Given the description of an element on the screen output the (x, y) to click on. 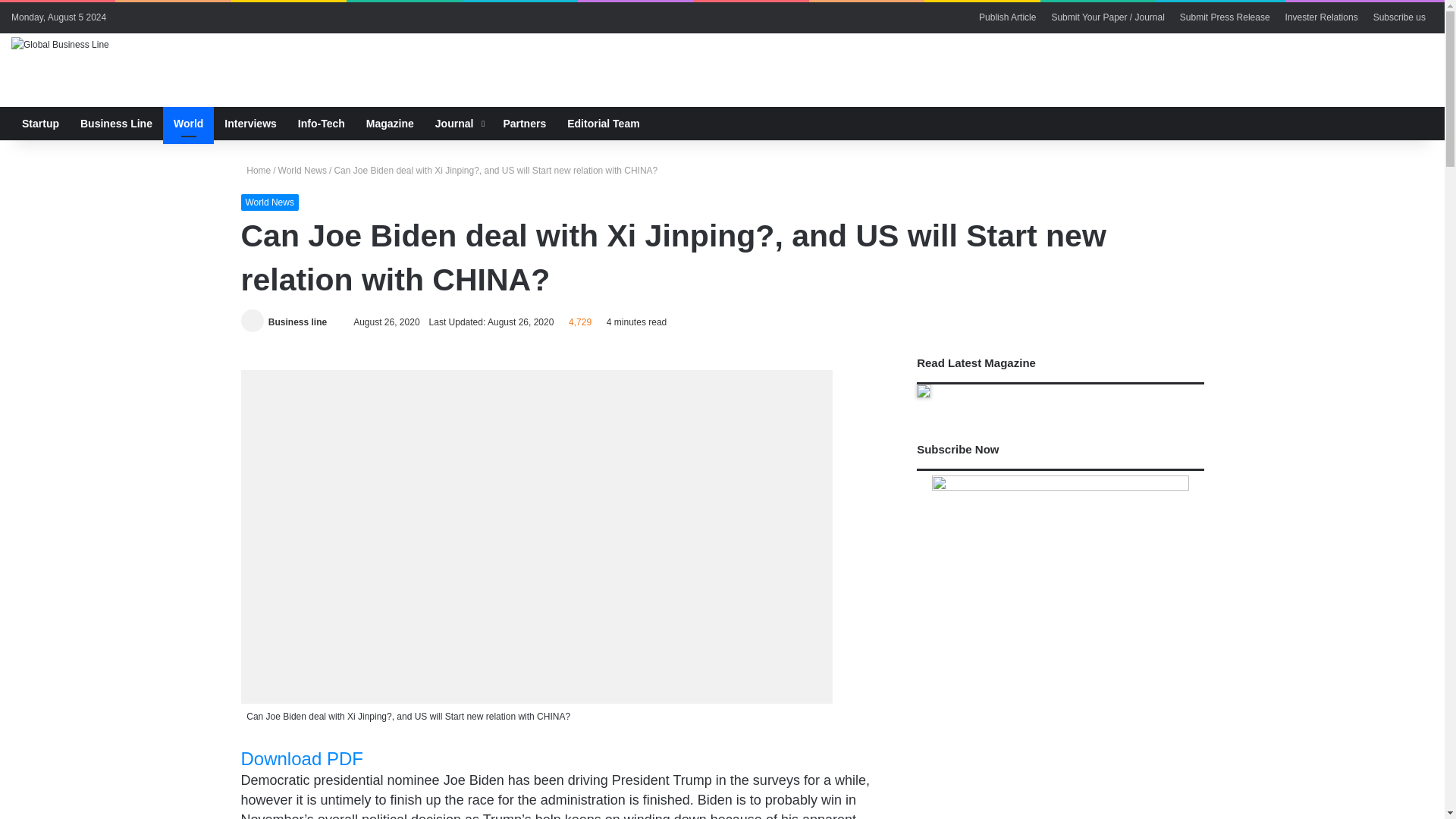
Instagram (197, 17)
Info-Tech (320, 123)
Sidebar (379, 17)
Switch skin (1398, 123)
LinkedIn (174, 17)
Magazine (390, 123)
Facebook (128, 17)
Invester Relations (1321, 17)
Log In (356, 17)
Business line (296, 321)
WhatsApp (219, 17)
X (151, 17)
Submit Press Release (1225, 17)
Switch skin (401, 17)
